Given the description of an element on the screen output the (x, y) to click on. 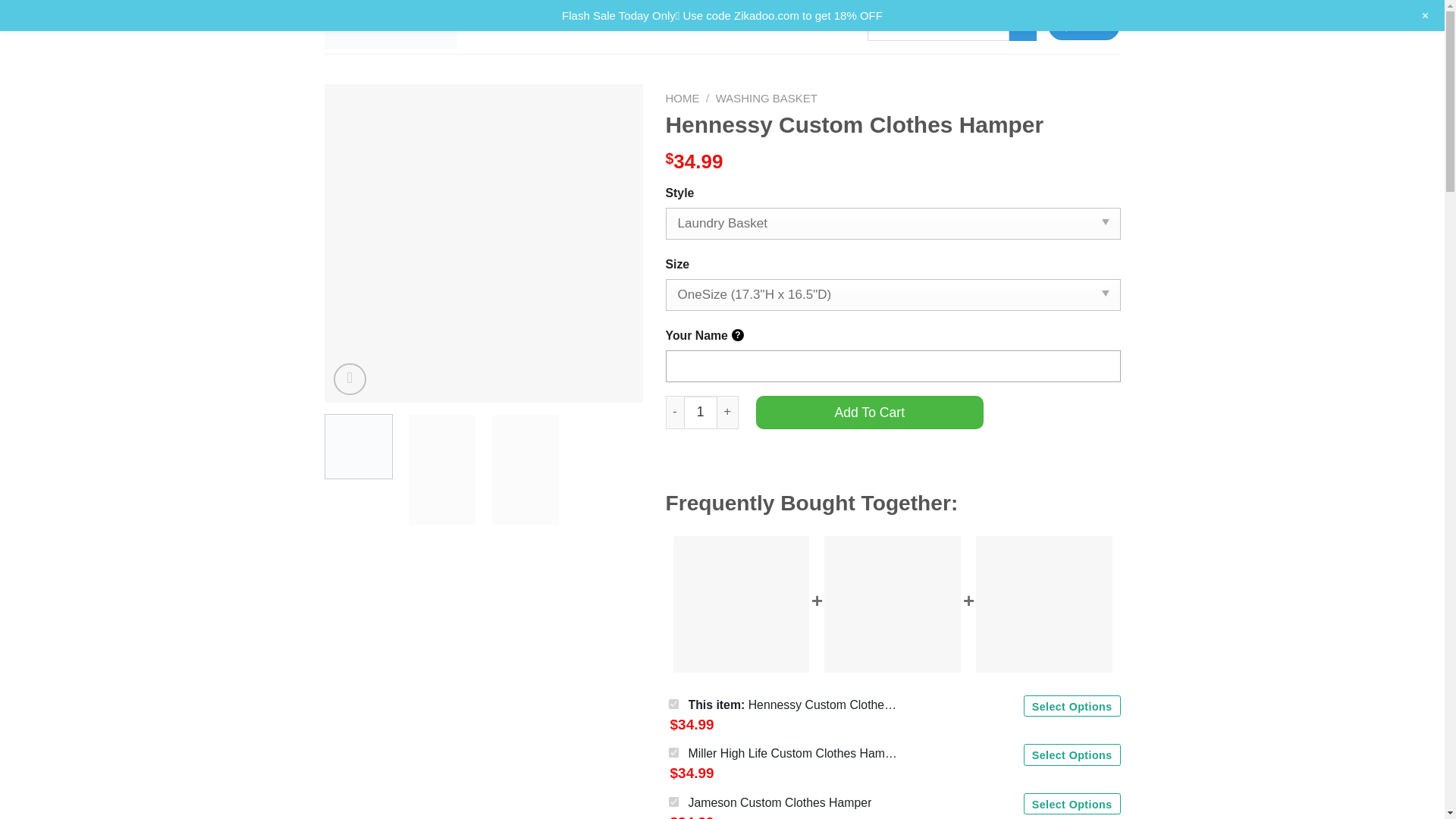
WASHING BASKET (766, 97)
Jameson Custom Clothes Hamper (780, 802)
Zoom (349, 379)
Hennessy Custom Clothes Hamper (483, 243)
Miller High Life Custom Clothes Hamper (794, 752)
Cart (1083, 26)
Search (1022, 26)
HOME (682, 97)
SHOP (570, 26)
Hennessy Custom Clothes Hamper b (1119, 243)
